Given the description of an element on the screen output the (x, y) to click on. 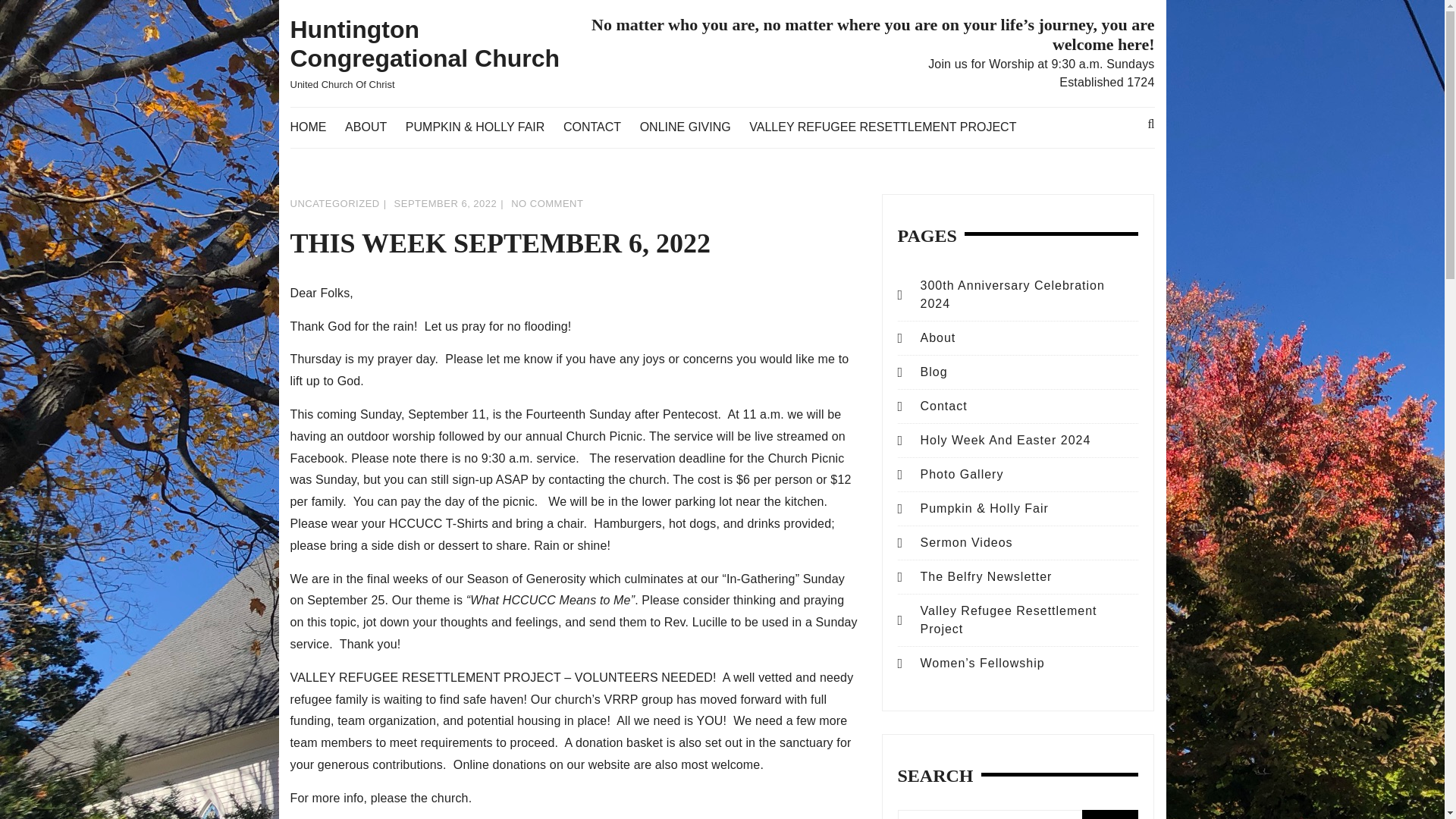
ONLINE GIVING (692, 127)
Huntington Congregational Church (424, 43)
CONTACT (599, 127)
Sermon Videos (966, 542)
VALLEY REFUGEE RESETTLEMENT PROJECT (889, 127)
Contact (944, 405)
Photo Gallery (962, 473)
Holy Week And Easter 2024 (1005, 440)
Search (1109, 814)
Blog (933, 371)
